Given the description of an element on the screen output the (x, y) to click on. 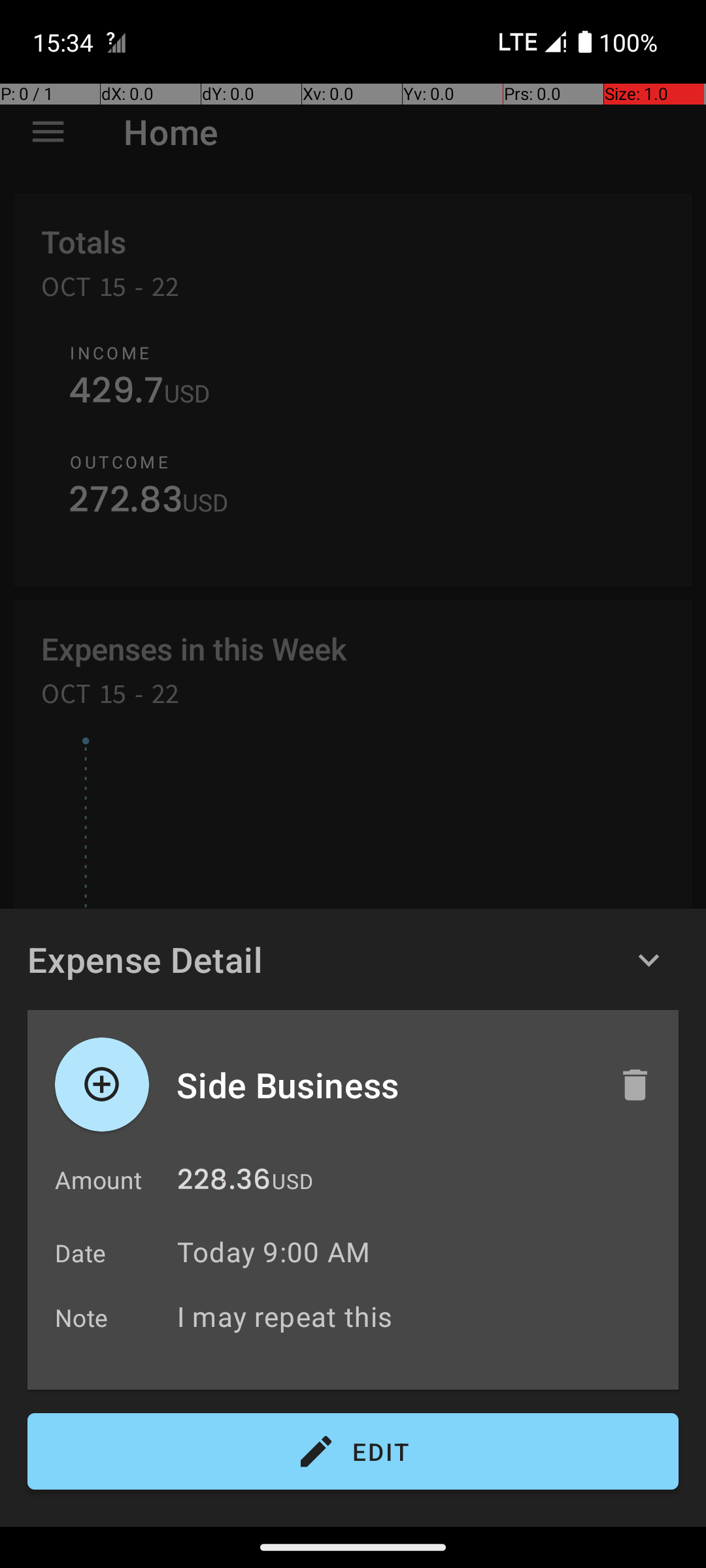
Side Business Element type: android.widget.TextView (383, 1084)
228.36 Element type: android.widget.TextView (223, 1182)
Today 9:00 AM Element type: android.widget.TextView (273, 1251)
